Given the description of an element on the screen output the (x, y) to click on. 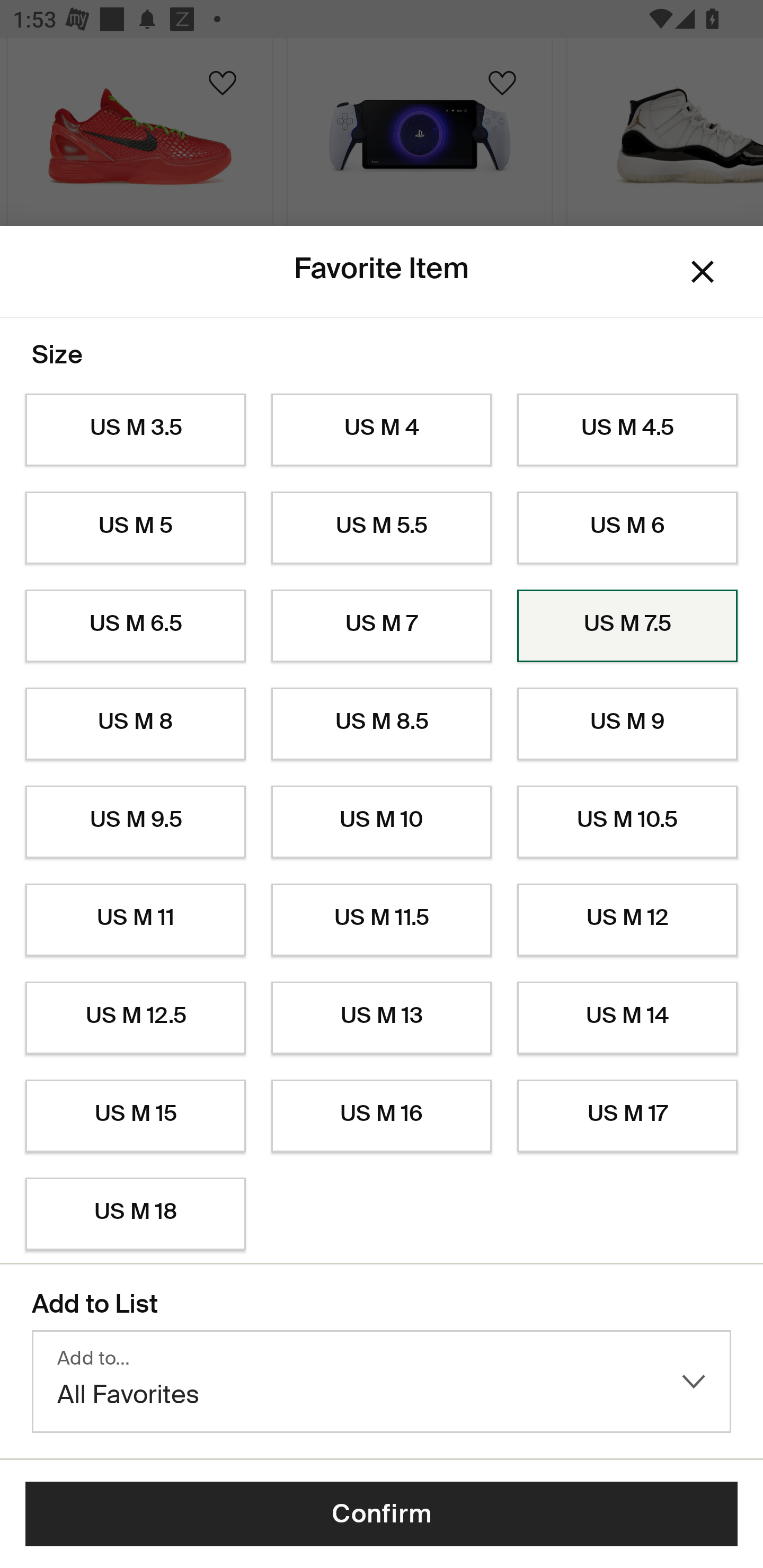
Dismiss (702, 271)
US M 3.5 (135, 430)
US M 4 (381, 430)
US M 4.5 (627, 430)
US M 5 (135, 527)
US M 5.5 (381, 527)
US M 6 (627, 527)
US M 6.5 (135, 626)
US M 7 (381, 626)
US M 7.5 (627, 626)
US M 8 (135, 724)
US M 8.5 (381, 724)
US M 9 (627, 724)
US M 9.5 (135, 822)
US M 10 (381, 822)
US M 10.5 (627, 822)
US M 11 (135, 919)
US M 11.5 (381, 919)
US M 12 (627, 919)
US M 12.5 (135, 1018)
US M 13 (381, 1018)
US M 14 (627, 1018)
US M 15 (135, 1116)
US M 16 (381, 1116)
US M 17 (627, 1116)
US M 18 (135, 1214)
Add to… All Favorites (381, 1381)
Confirm (381, 1513)
